Given the description of an element on the screen output the (x, y) to click on. 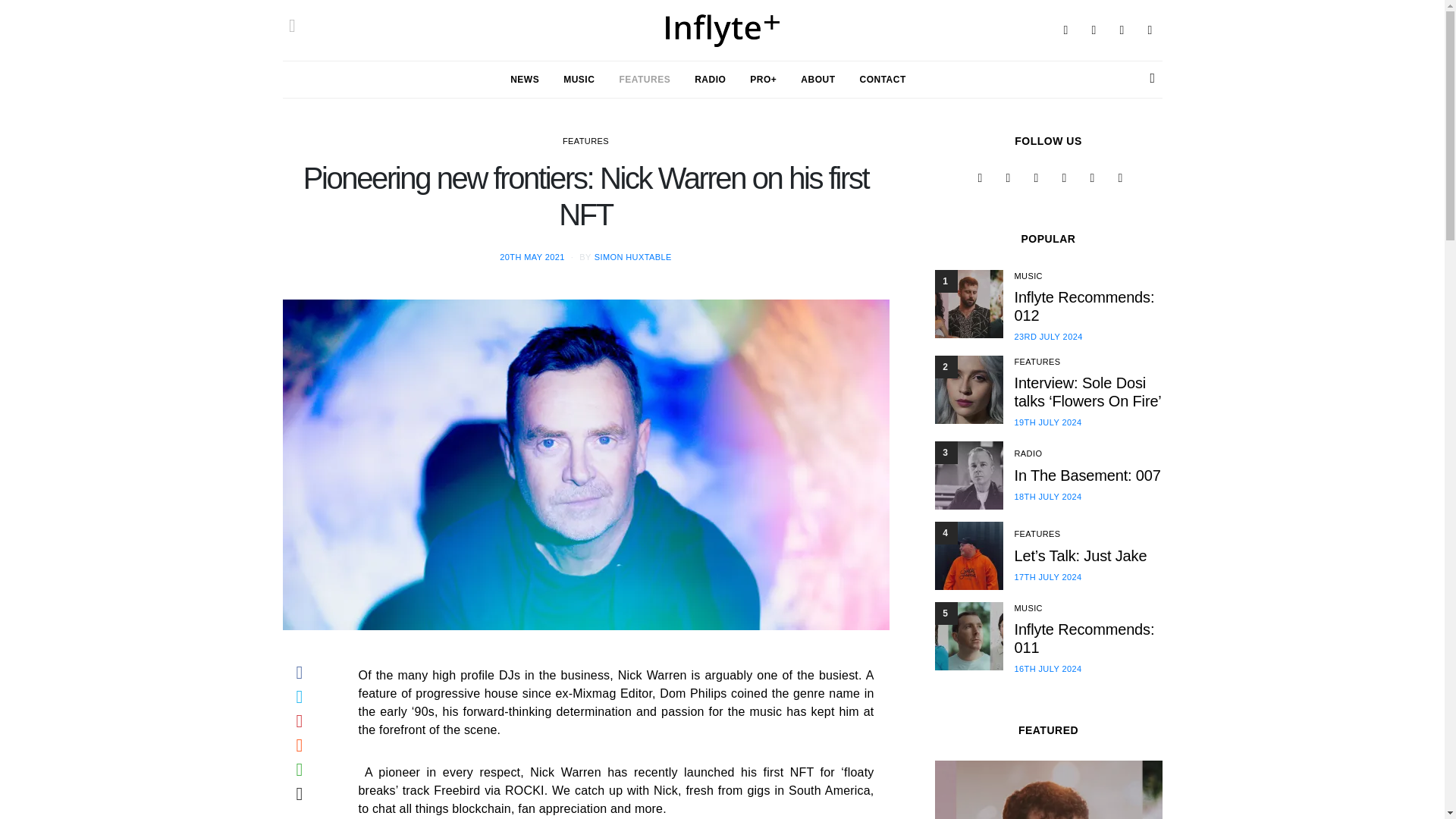
CONTACT (882, 79)
MUSIC (578, 79)
20TH MAY 2021 (531, 256)
RADIO (709, 79)
NEWS (524, 79)
View all posts by Simon Huxtable (632, 256)
FEATURES (643, 79)
ABOUT (817, 79)
SIMON HUXTABLE (632, 256)
FEATURES (585, 140)
